Given the description of an element on the screen output the (x, y) to click on. 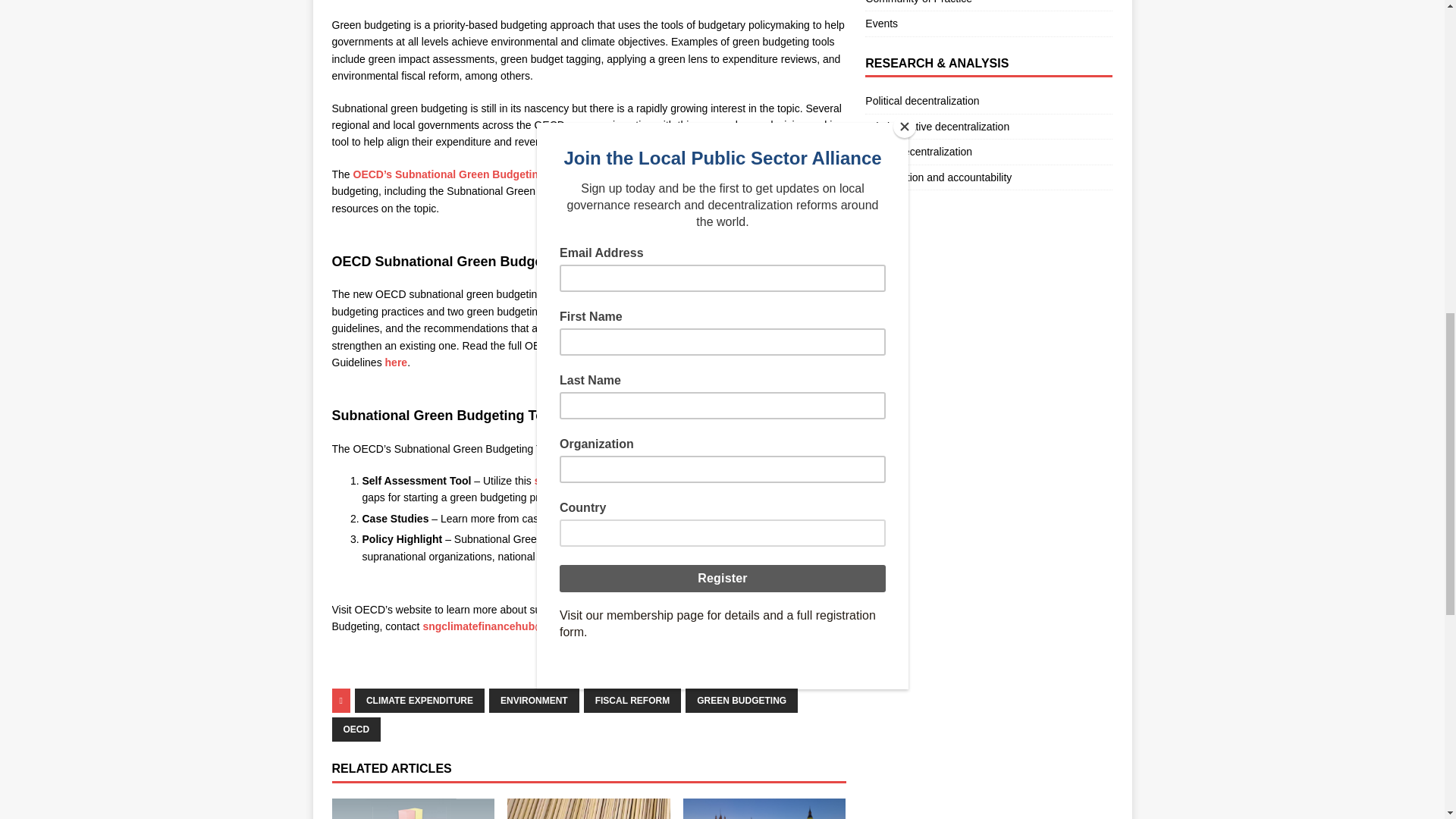
The Four Deficits of the English Devolution Process (763, 808)
